Given the description of an element on the screen output the (x, y) to click on. 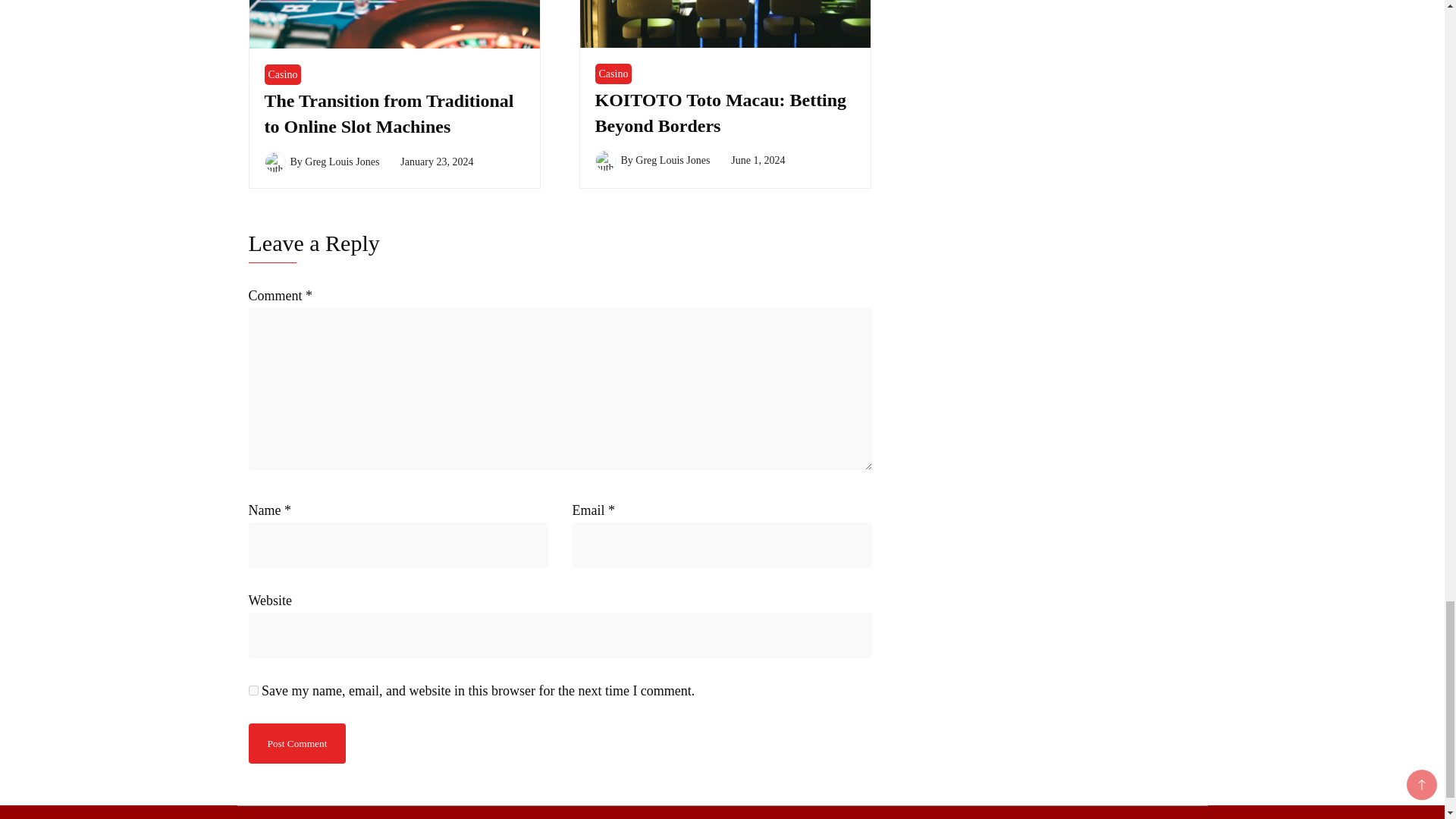
Greg Louis Jones (341, 161)
June 1, 2024 (757, 160)
yes (253, 690)
Casino (282, 74)
Greg Louis Jones (672, 160)
Post Comment (297, 743)
January 23, 2024 (436, 161)
Post Comment (297, 743)
KOITOTO Toto Macau: Betting Beyond Borders (719, 112)
Casino (612, 73)
The Transition from Traditional to Online Slot Machines (388, 113)
